Given the description of an element on the screen output the (x, y) to click on. 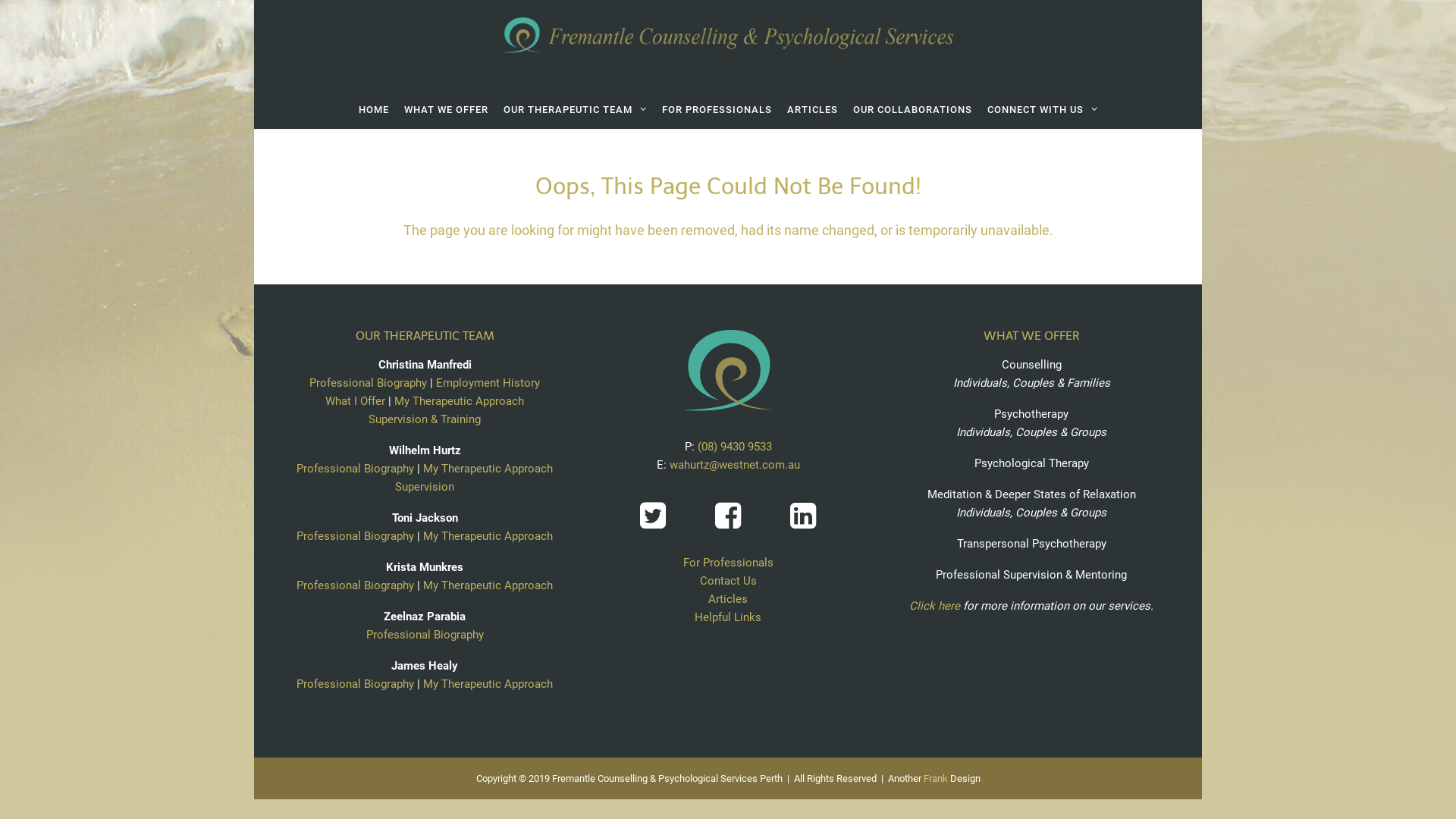
My Therapeutic Approach Element type: text (487, 535)
OUR THERAPEUTIC TEAM Element type: text (574, 109)
Contact Us Element type: text (727, 580)
ARTICLES Element type: text (812, 109)
Employment History Element type: text (487, 382)
Professional Biography Element type: text (424, 634)
For Professionals Element type: text (727, 562)
Professional Biography Element type: text (355, 585)
Professional Biography Element type: text (355, 535)
Professional Biography Element type: text (378, 477)
Articles Element type: text (727, 598)
Professional Biography Element type: text (367, 382)
My Therapeutic Approach Element type: text (487, 585)
wahurtz@westnet.com.au Element type: text (733, 464)
What I Offer Element type: text (355, 400)
(08) 9430 9533 Element type: text (734, 446)
OUR COLLABORATIONS Element type: text (911, 109)
My Therapeutic Approach Element type: text (459, 400)
Fremantle Counselling & Psychological Services Element type: hover (727, 44)
Supervision Element type: text (424, 486)
WHAT WE OFFER Element type: text (445, 109)
Frank Element type: text (935, 778)
Supervision & Training Element type: text (424, 419)
CONNECT WITH US Element type: text (1042, 109)
Click here Element type: text (934, 605)
Helpful Links Element type: text (727, 617)
HOME Element type: text (372, 109)
Professional Biography Element type: text (355, 683)
My Therapeutic Approach Element type: text (487, 683)
FOR PROFESSIONALS Element type: text (715, 109)
My Therapeutic Approach Element type: text (487, 468)
